Given the description of an element on the screen output the (x, y) to click on. 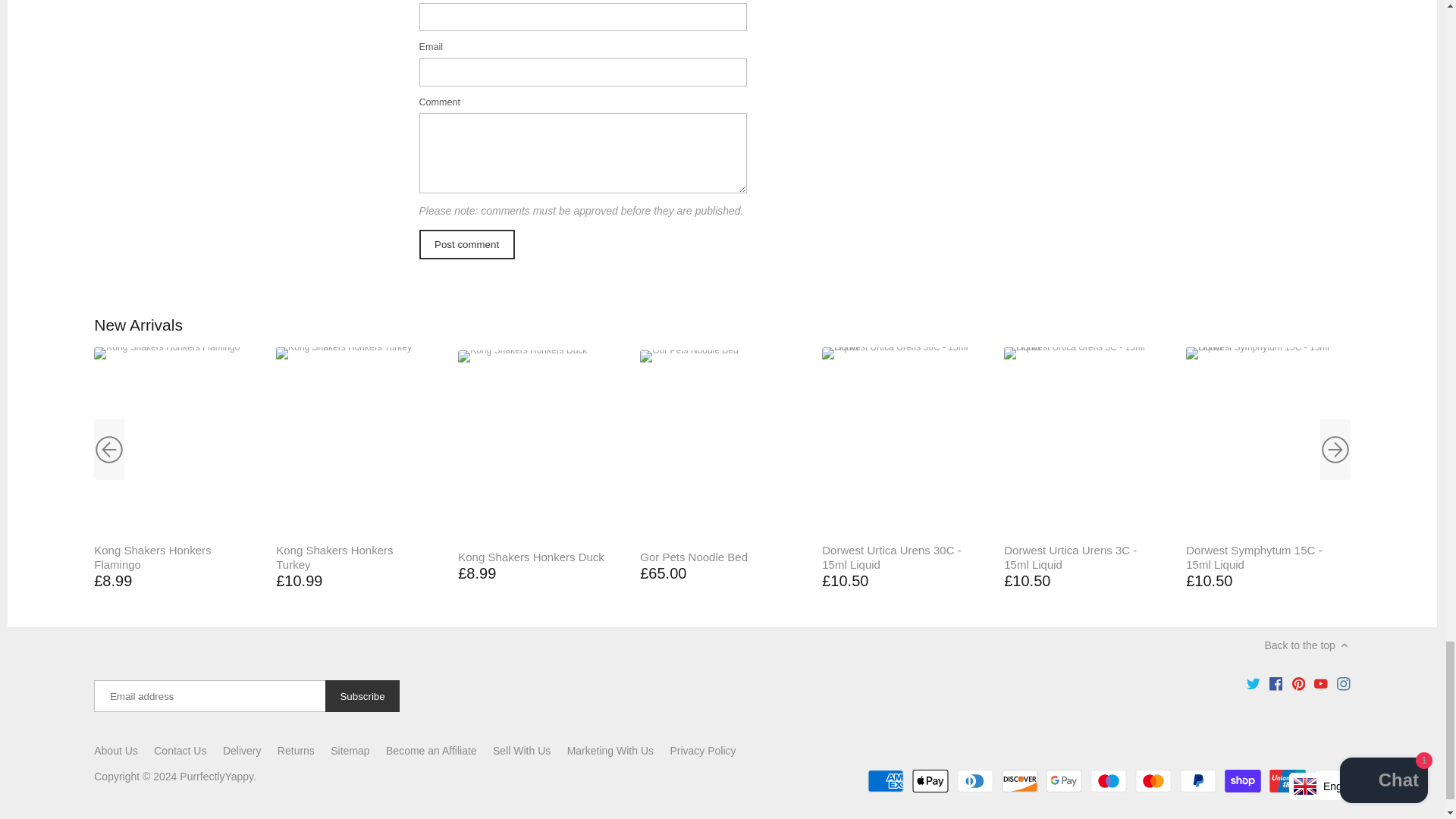
Facebook (1275, 683)
Pinterest (1299, 683)
Instagram (1342, 683)
Subscribe (361, 695)
Youtube (1320, 683)
Post comment (466, 244)
Twitter (1252, 683)
